Given the description of an element on the screen output the (x, y) to click on. 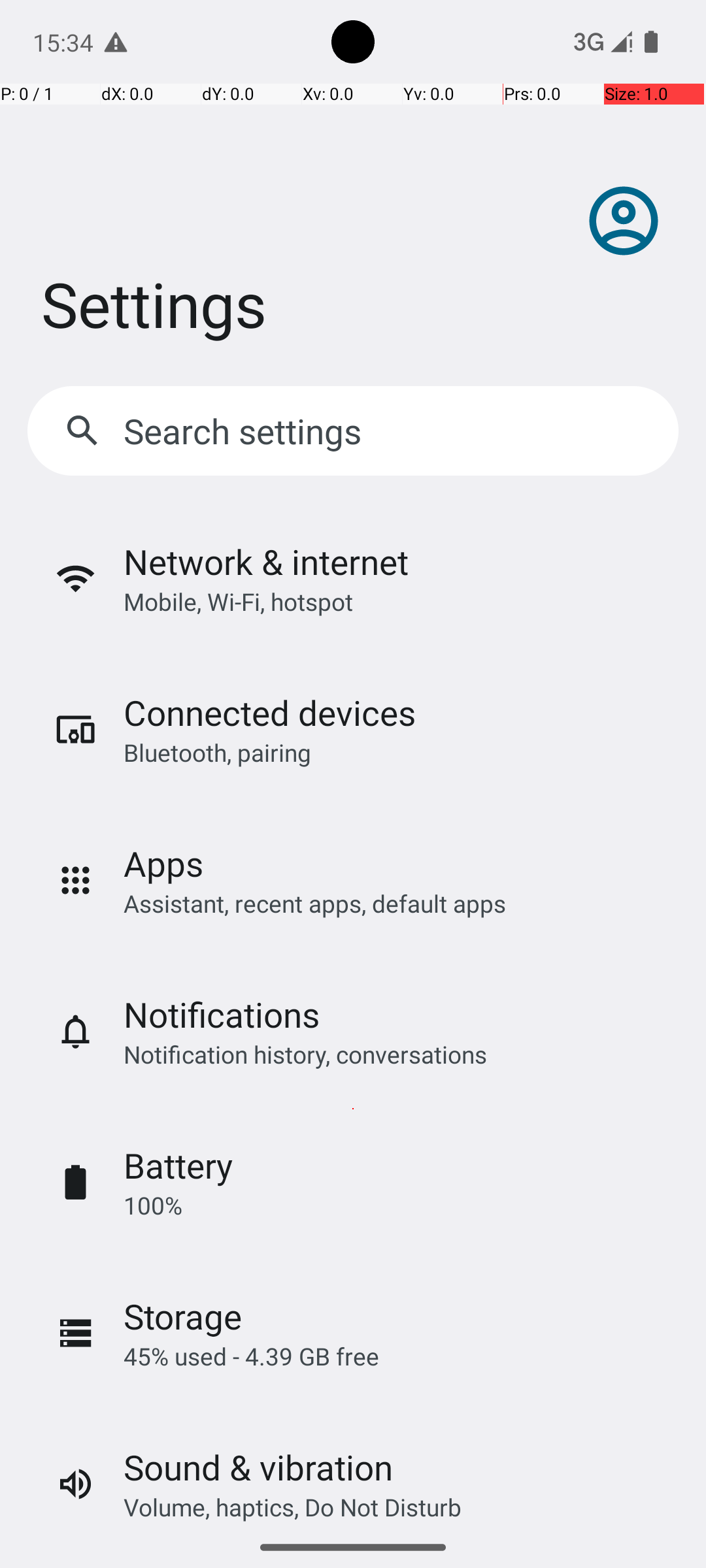
45% used - 4.39 GB free Element type: android.widget.TextView (251, 1355)
